Given the description of an element on the screen output the (x, y) to click on. 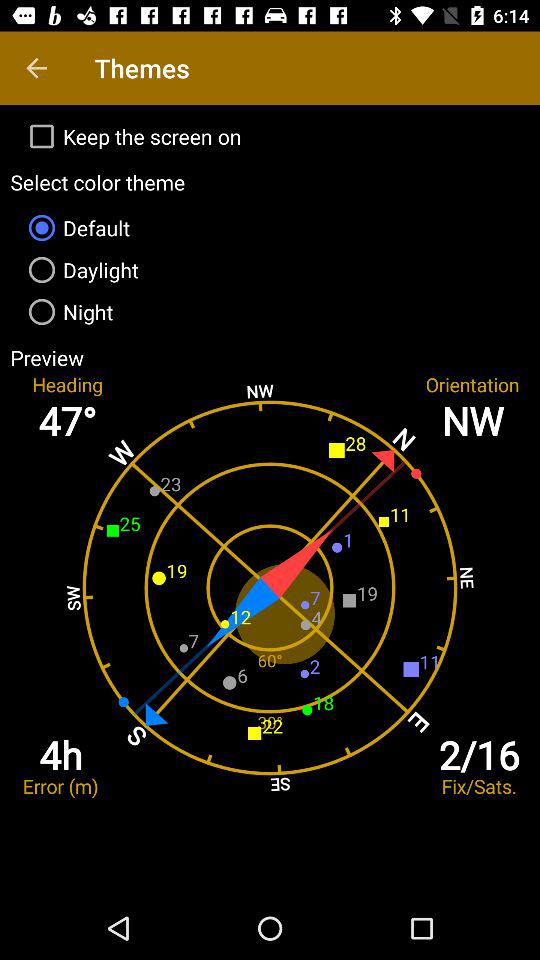
turn on the icon below the select color theme (270, 228)
